Given the description of an element on the screen output the (x, y) to click on. 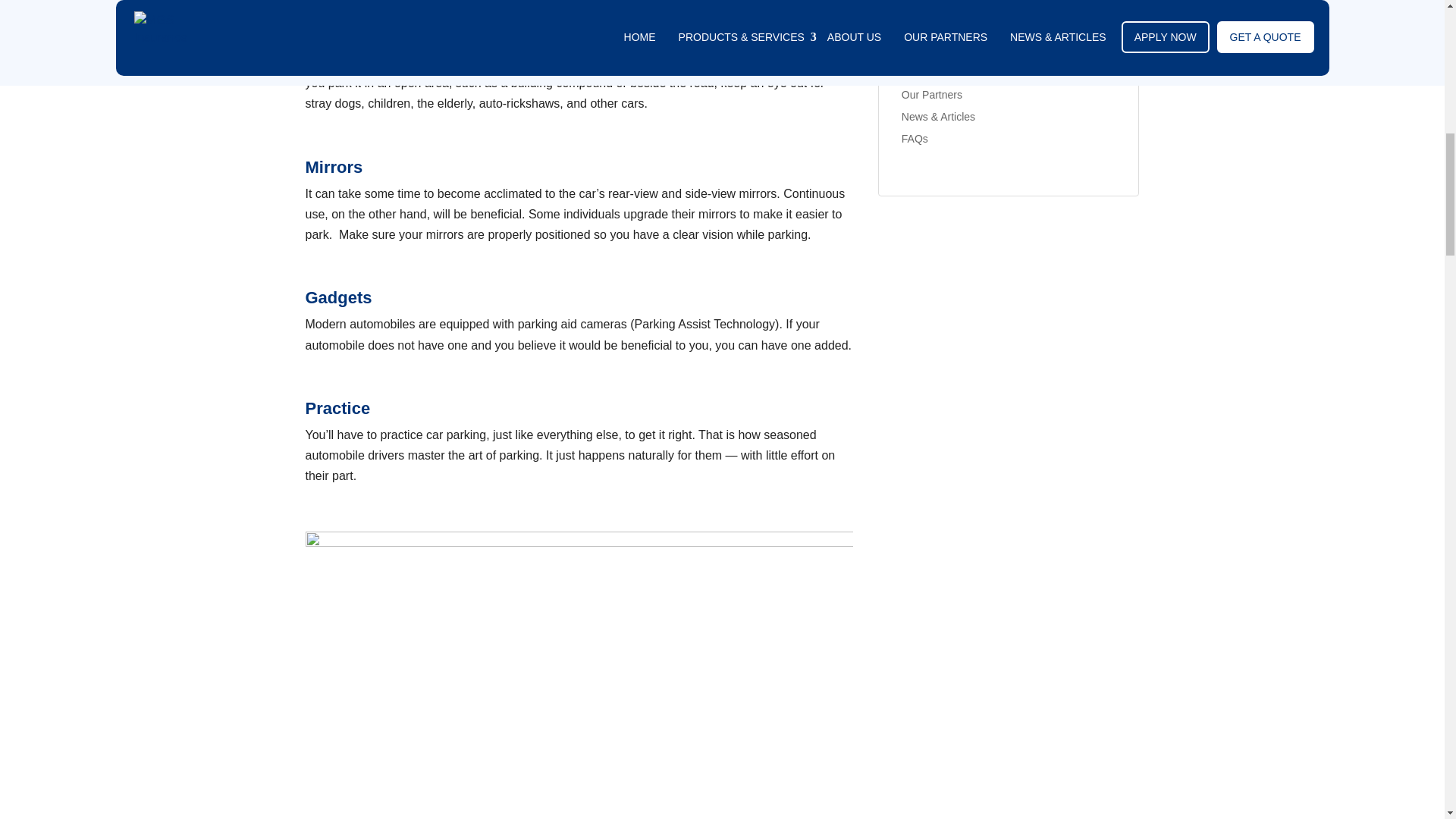
About Us (922, 72)
FAQs (914, 138)
Our Partners (931, 94)
